Given the description of an element on the screen output the (x, y) to click on. 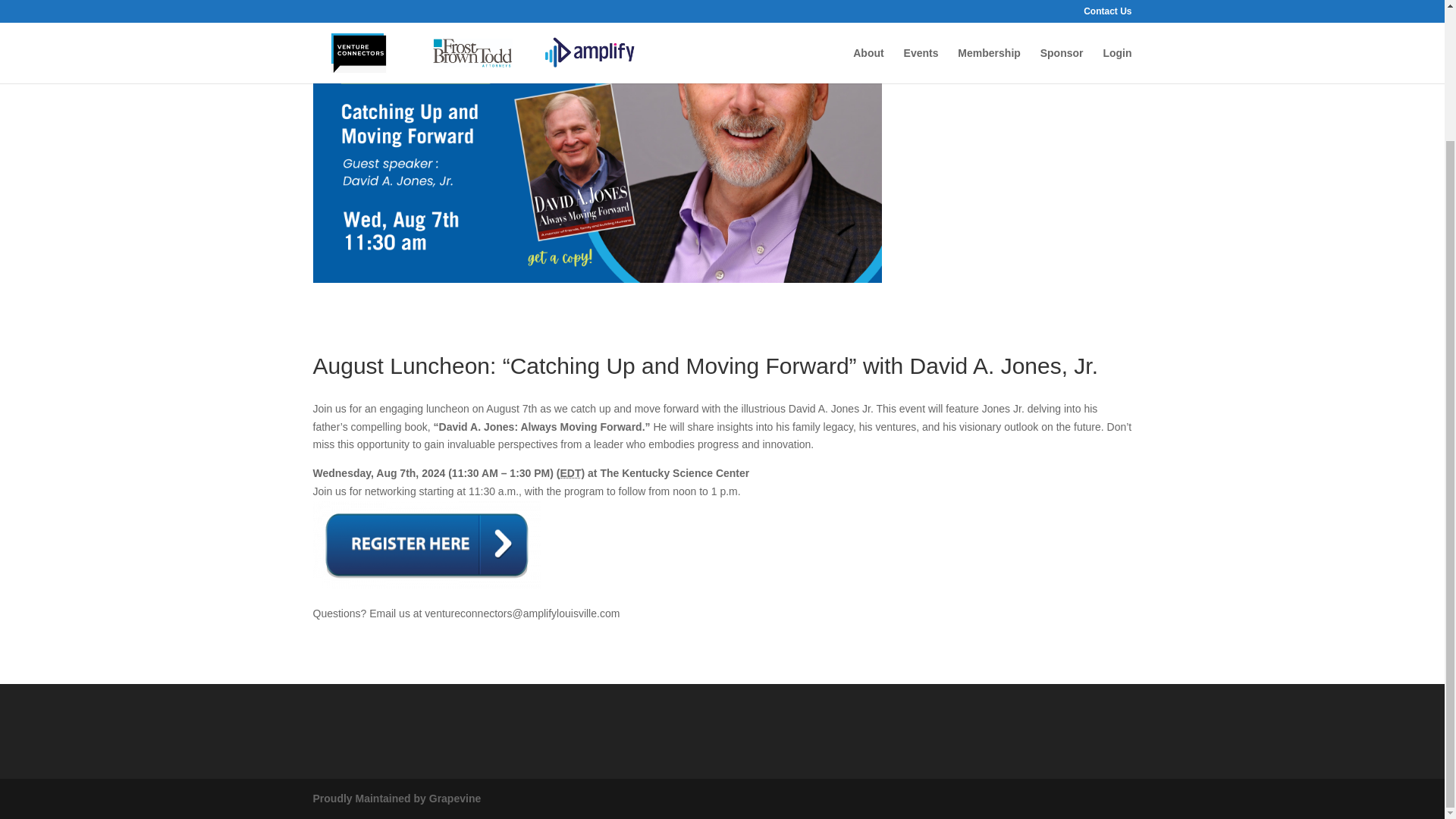
Proudly Maintained by Grapevine (396, 798)
